Given the description of an element on the screen output the (x, y) to click on. 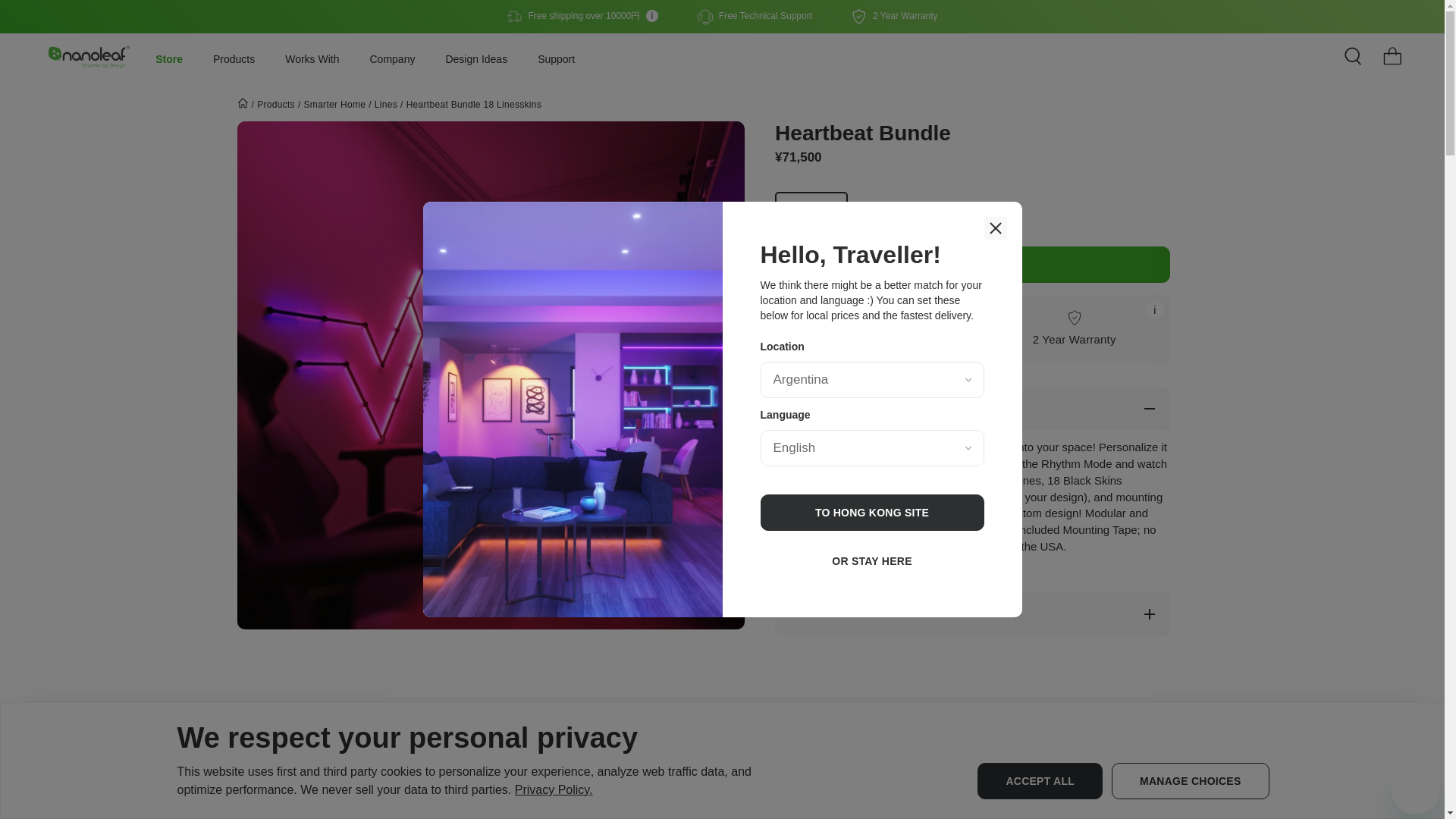
Button to launch messaging window (1415, 789)
Design Ideas (475, 56)
Company (391, 56)
Products (233, 56)
Works With (312, 56)
